Given the description of an element on the screen output the (x, y) to click on. 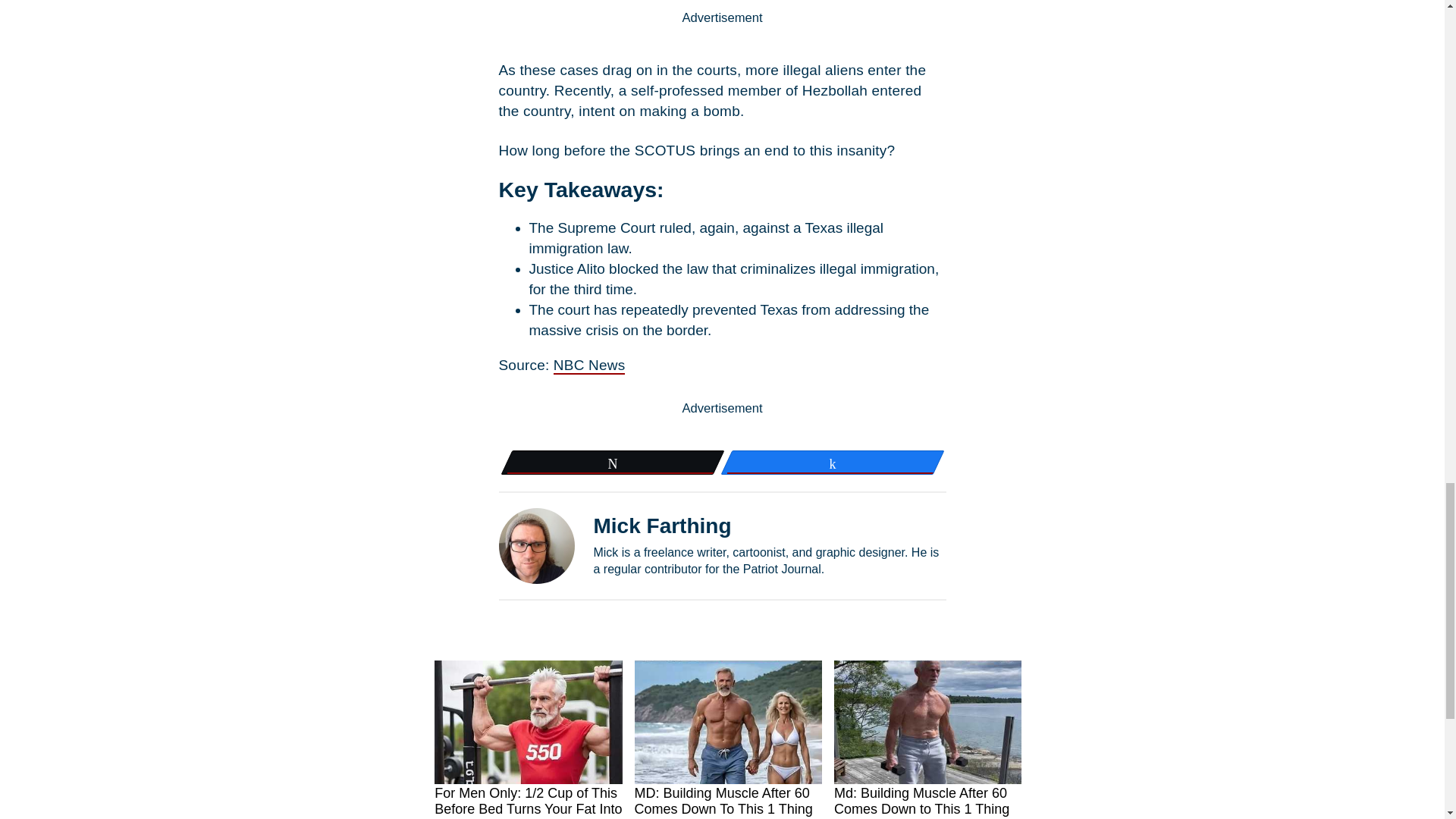
NBC News (589, 365)
